Given the description of an element on the screen output the (x, y) to click on. 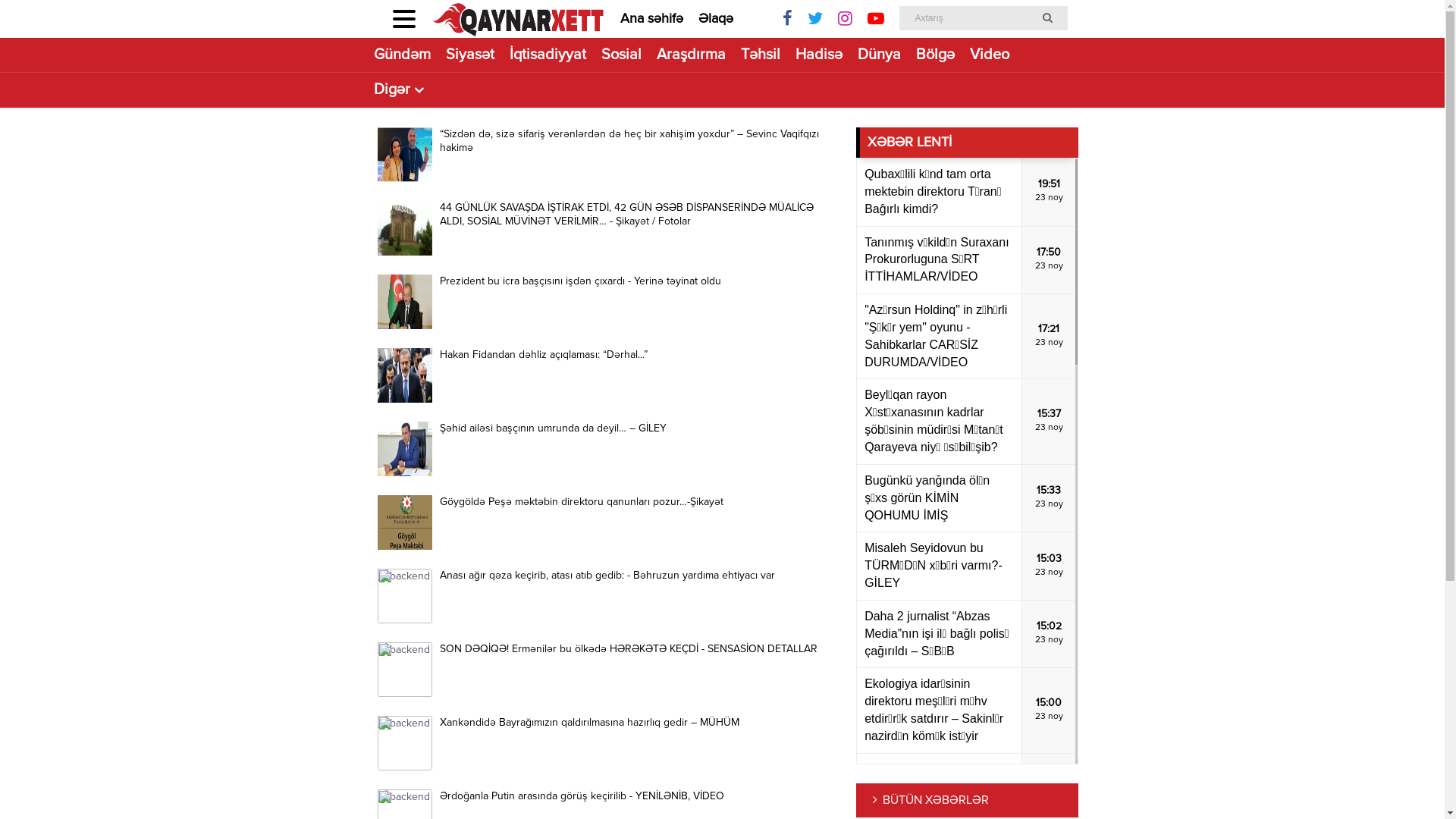
Open megamenu Element type: hover (403, 18)
Sosial Element type: text (620, 54)
Video Element type: text (988, 54)
